Given the description of an element on the screen output the (x, y) to click on. 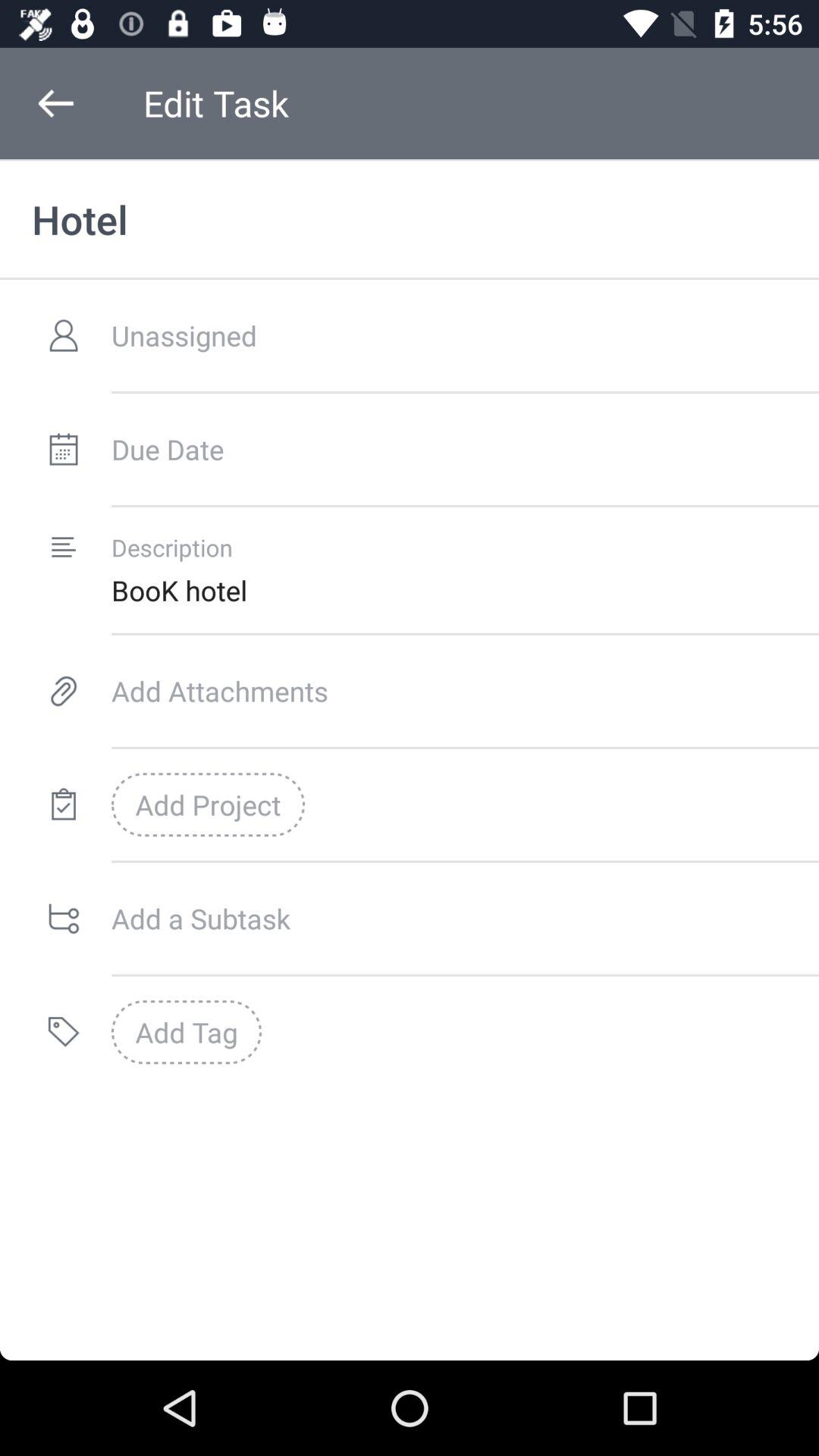
press the add tag (186, 1032)
